Given the description of an element on the screen output the (x, y) to click on. 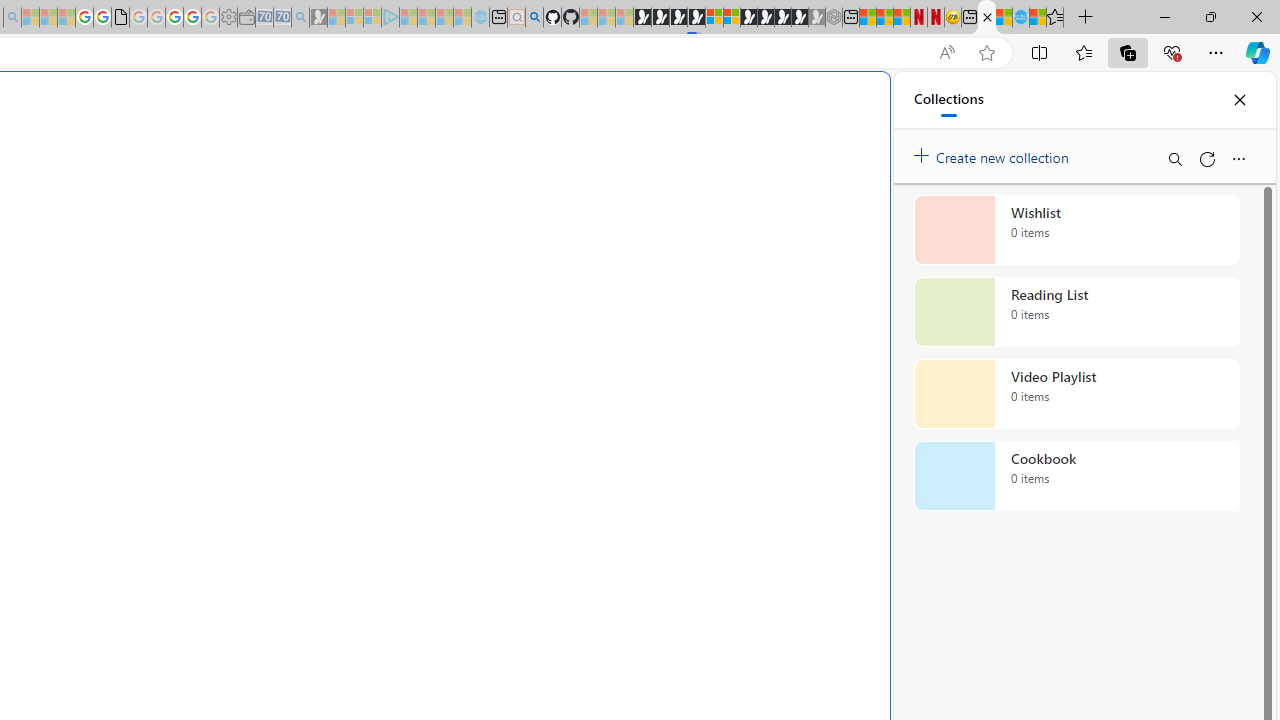
Reading List collection, 0 items (1076, 312)
Frequently visited (418, 265)
Search or enter web address (343, 191)
